Given the description of an element on the screen output the (x, y) to click on. 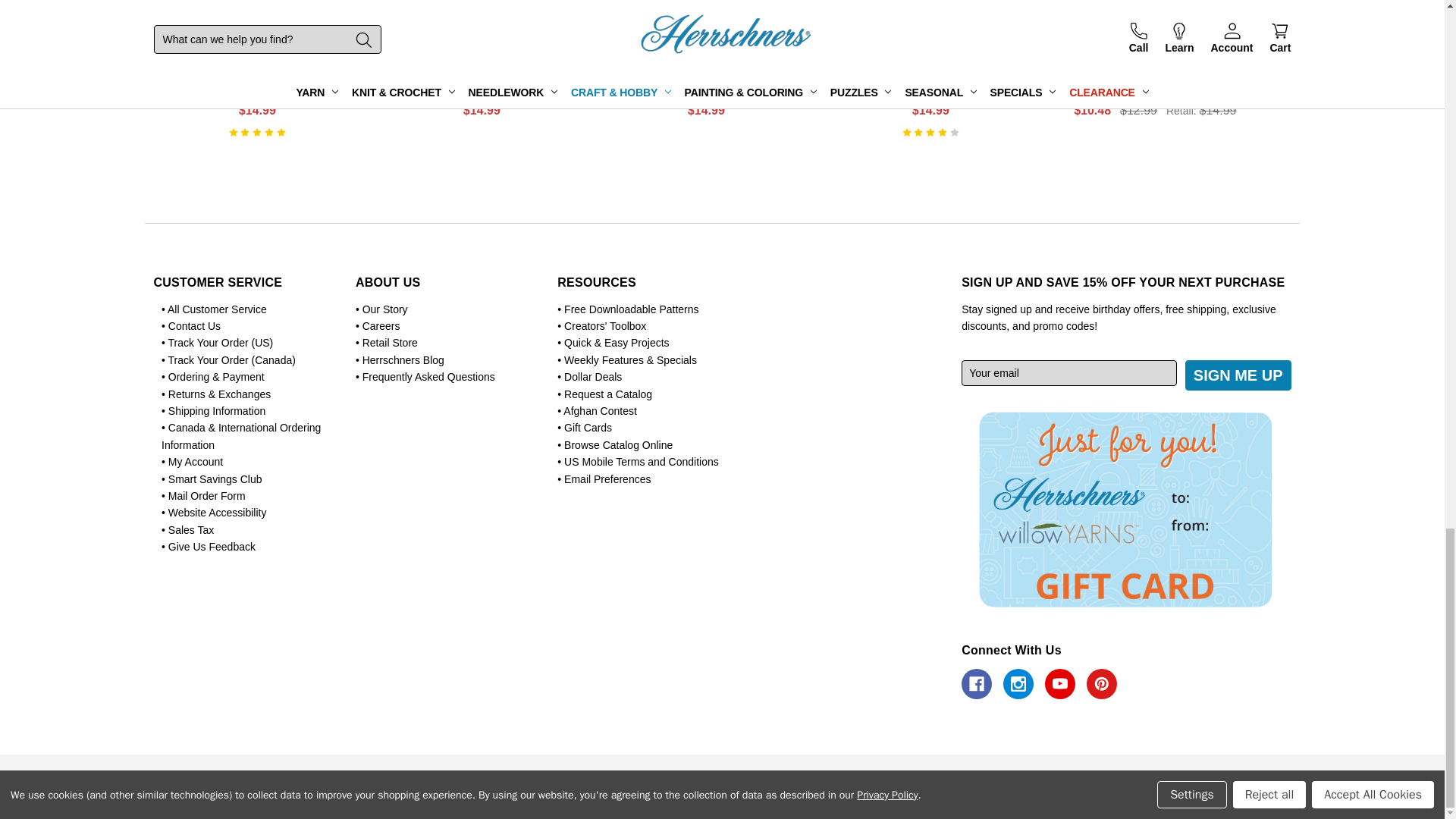
Herrschners Lana Princess Ornament Kit (705, 24)
Sign me up (1238, 375)
Herrschners Burgundy Princess Ornament Kit (256, 24)
Herrschners Sophia Princess Ornament Kit (481, 24)
